Given the description of an element on the screen output the (x, y) to click on. 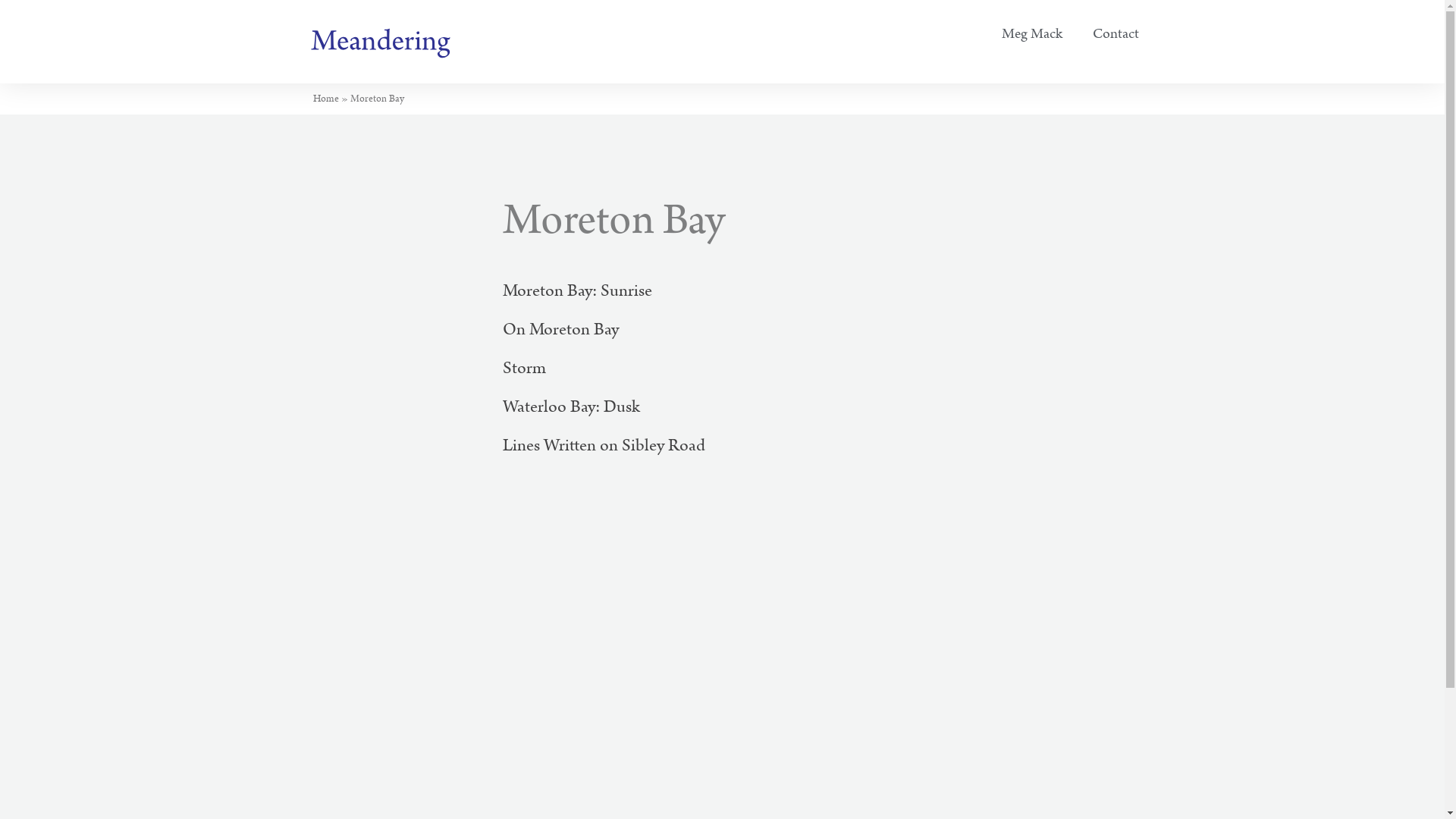
Waterloo Bay: Dusk Element type: text (570, 406)
Home Element type: text (325, 98)
Contact Element type: text (1115, 34)
Meg Mack Element type: text (1031, 34)
Storm Element type: text (523, 367)
On Moreton Bay Element type: text (560, 329)
Lines Written on Sibley Road Element type: text (603, 445)
Moreton Bay: Sunrise Element type: text (576, 290)
